Given the description of an element on the screen output the (x, y) to click on. 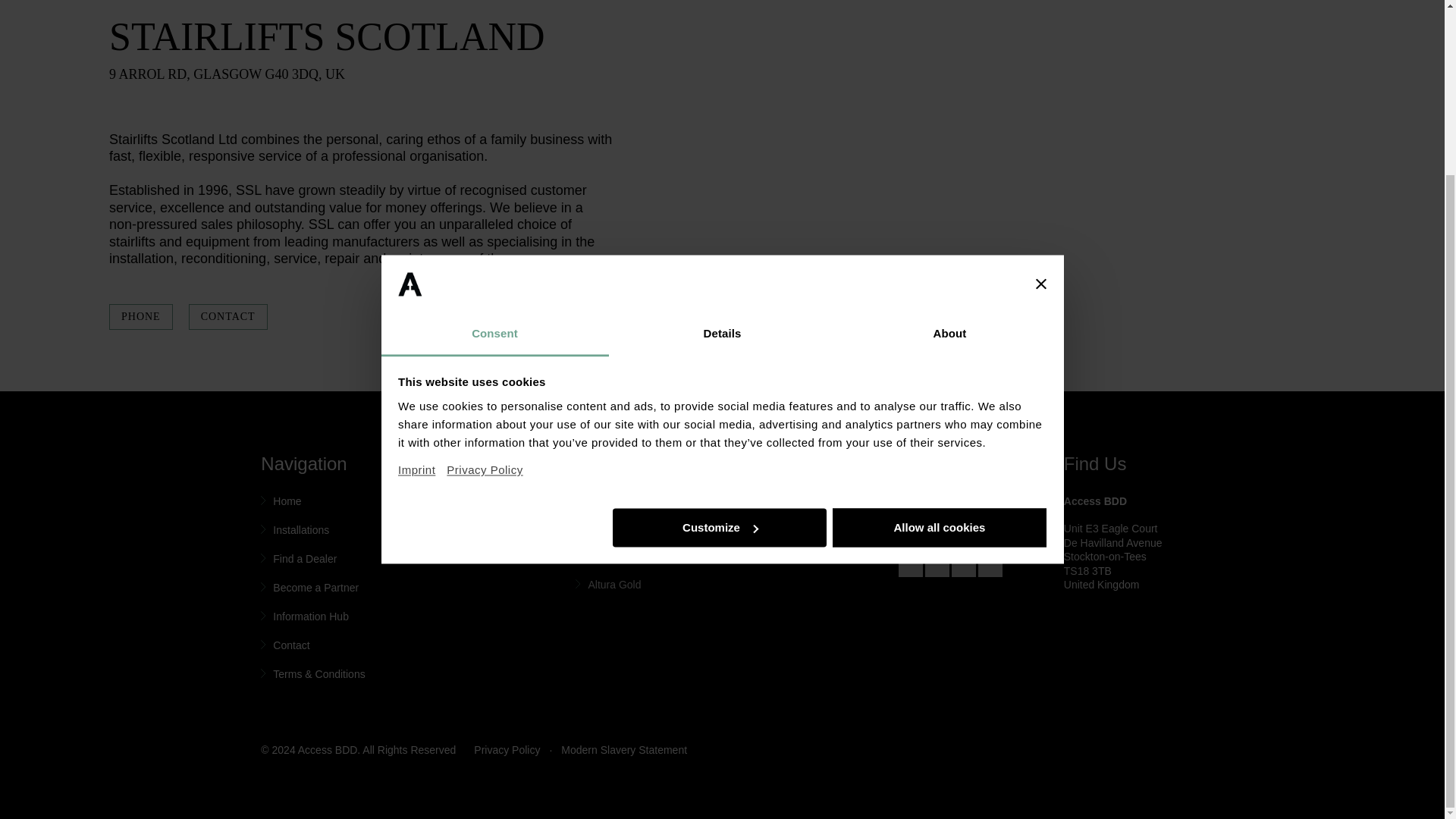
Privacy Policy (484, 257)
Privacy Policy (484, 257)
Consent (494, 122)
Imprint (421, 252)
Imprint (421, 252)
About (948, 122)
Details (721, 122)
